Given the description of an element on the screen output the (x, y) to click on. 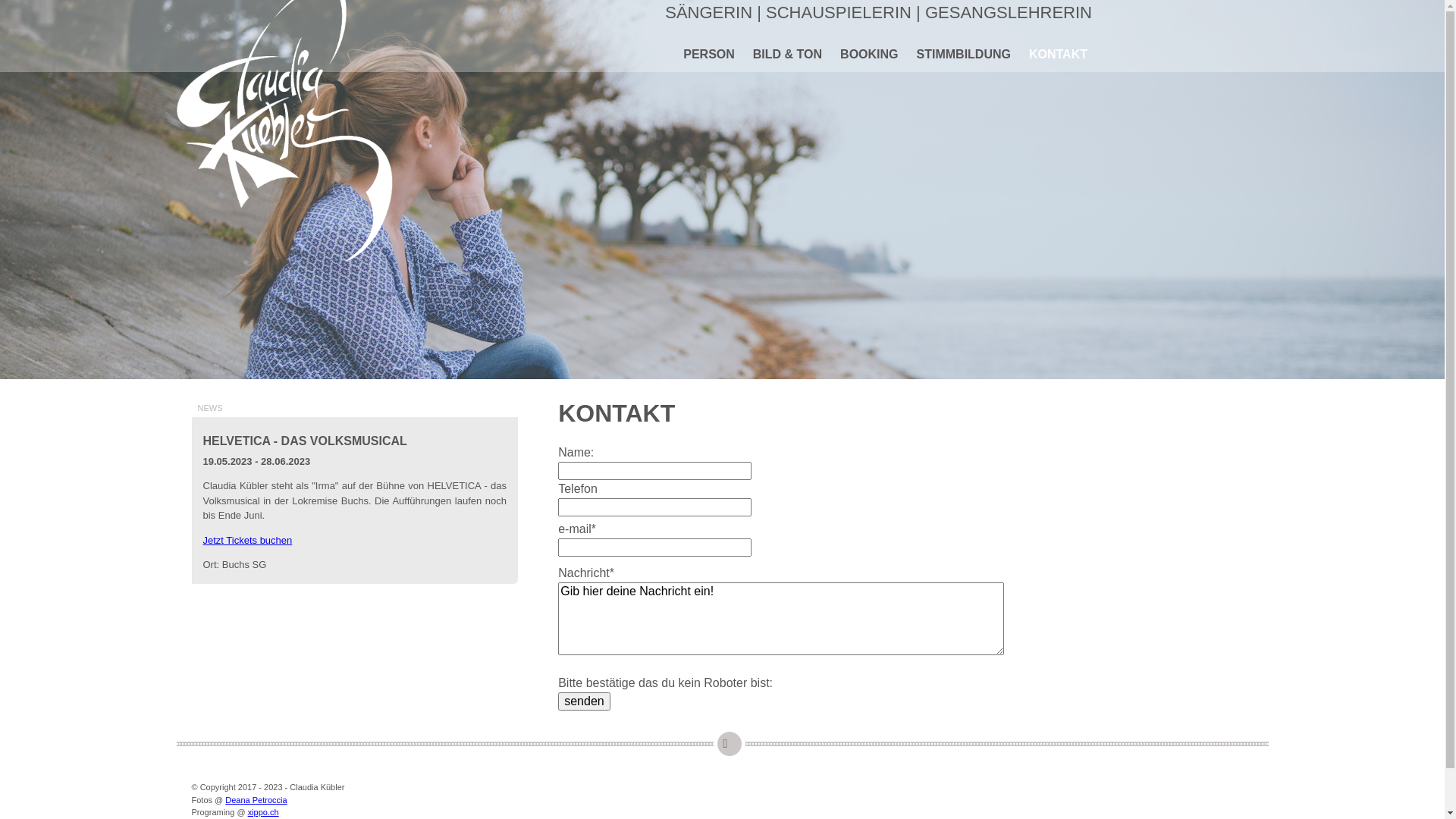
BILD & TON Element type: text (785, 54)
Buchs SG Element type: text (244, 564)
BOOKING Element type: text (867, 54)
PERSON Element type: text (707, 54)
xippo.ch Element type: text (263, 811)
senden Element type: text (584, 701)
KONTAKT Element type: text (1056, 54)
HELVETICA - DAS VOLKSMUSICAL Element type: text (355, 441)
Jetzt Tickets buchen Element type: text (247, 539)
STIMMBILDUNG Element type: text (962, 54)
Deana Petroccia Element type: text (255, 798)
